Given the description of an element on the screen output the (x, y) to click on. 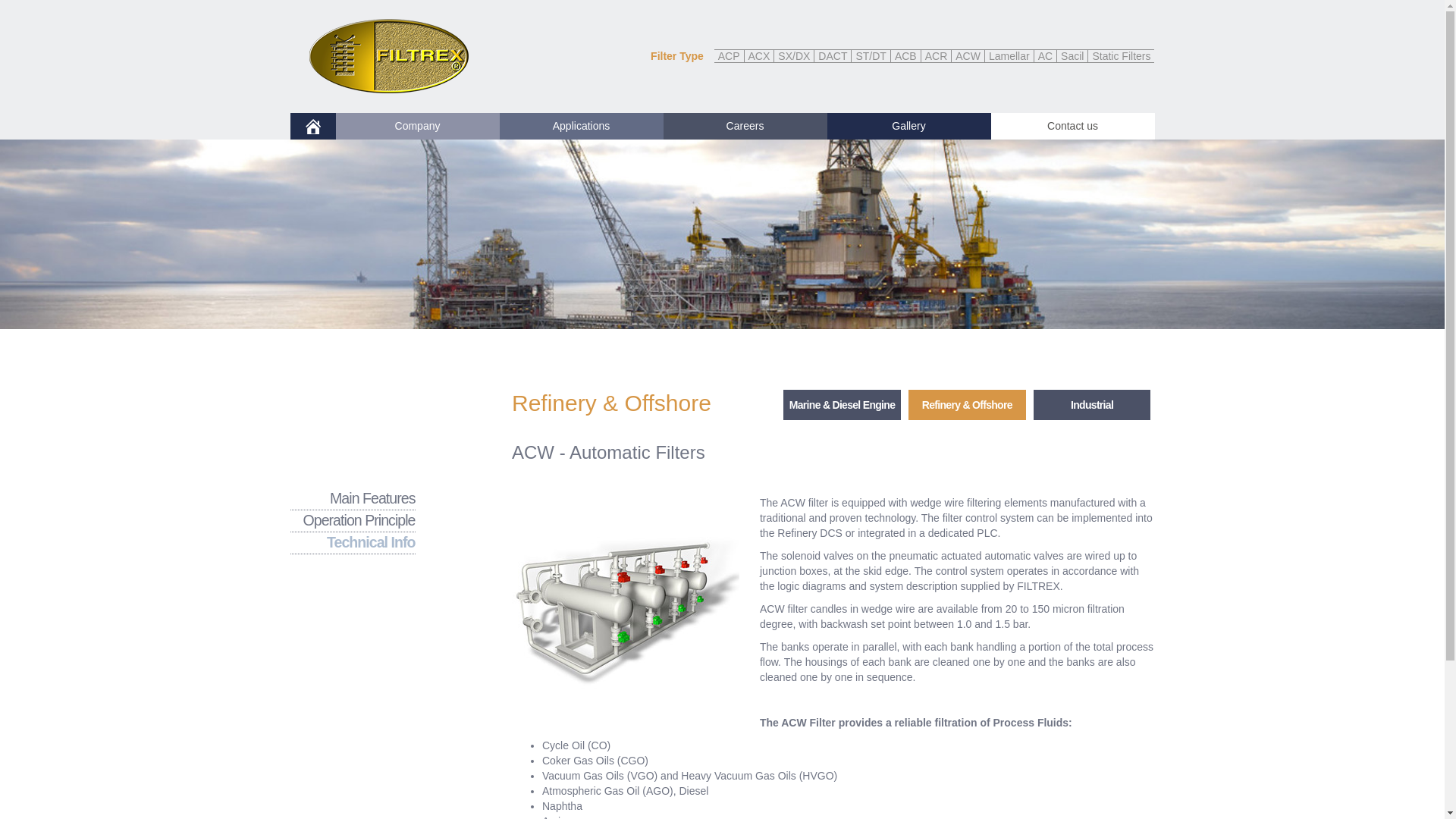
Gallery (908, 126)
Lamellar (1009, 55)
DACT (832, 55)
Careers (744, 126)
ACP (729, 55)
AC (1045, 55)
ACW (968, 55)
ACR (936, 55)
Applications (580, 126)
ACB (906, 55)
Company (416, 126)
ACX (759, 55)
Contact us (1072, 126)
Sacil (1072, 55)
Static Filters (1120, 55)
